Given the description of an element on the screen output the (x, y) to click on. 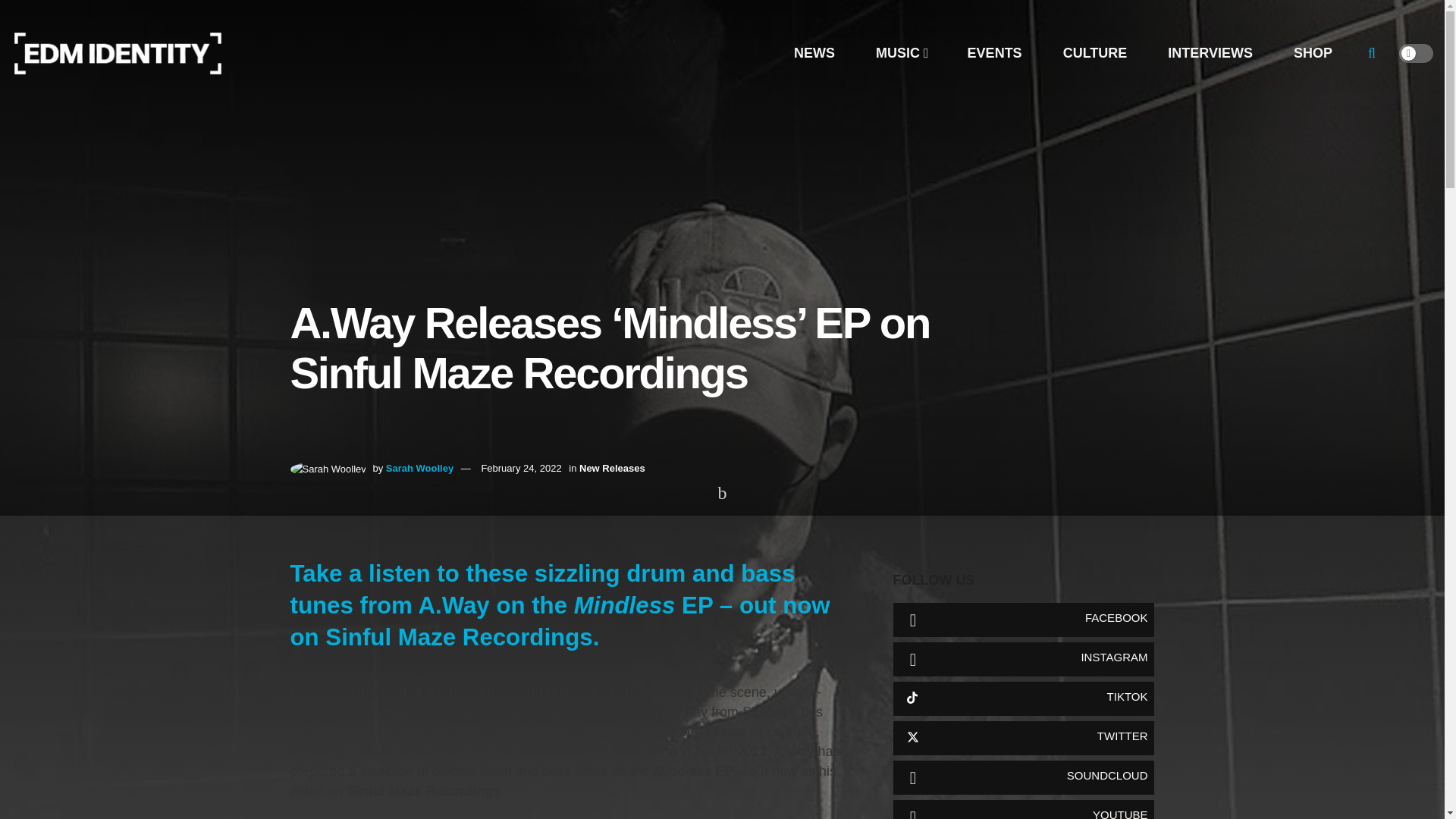
Sarah Woolley (418, 468)
EVENTS (994, 53)
CULTURE (1095, 53)
SHOP (1312, 53)
New Releases (612, 468)
February 24, 2022 (520, 468)
INTERVIEWS (1210, 53)
MUSIC (901, 53)
NEWS (814, 53)
